Given the description of an element on the screen output the (x, y) to click on. 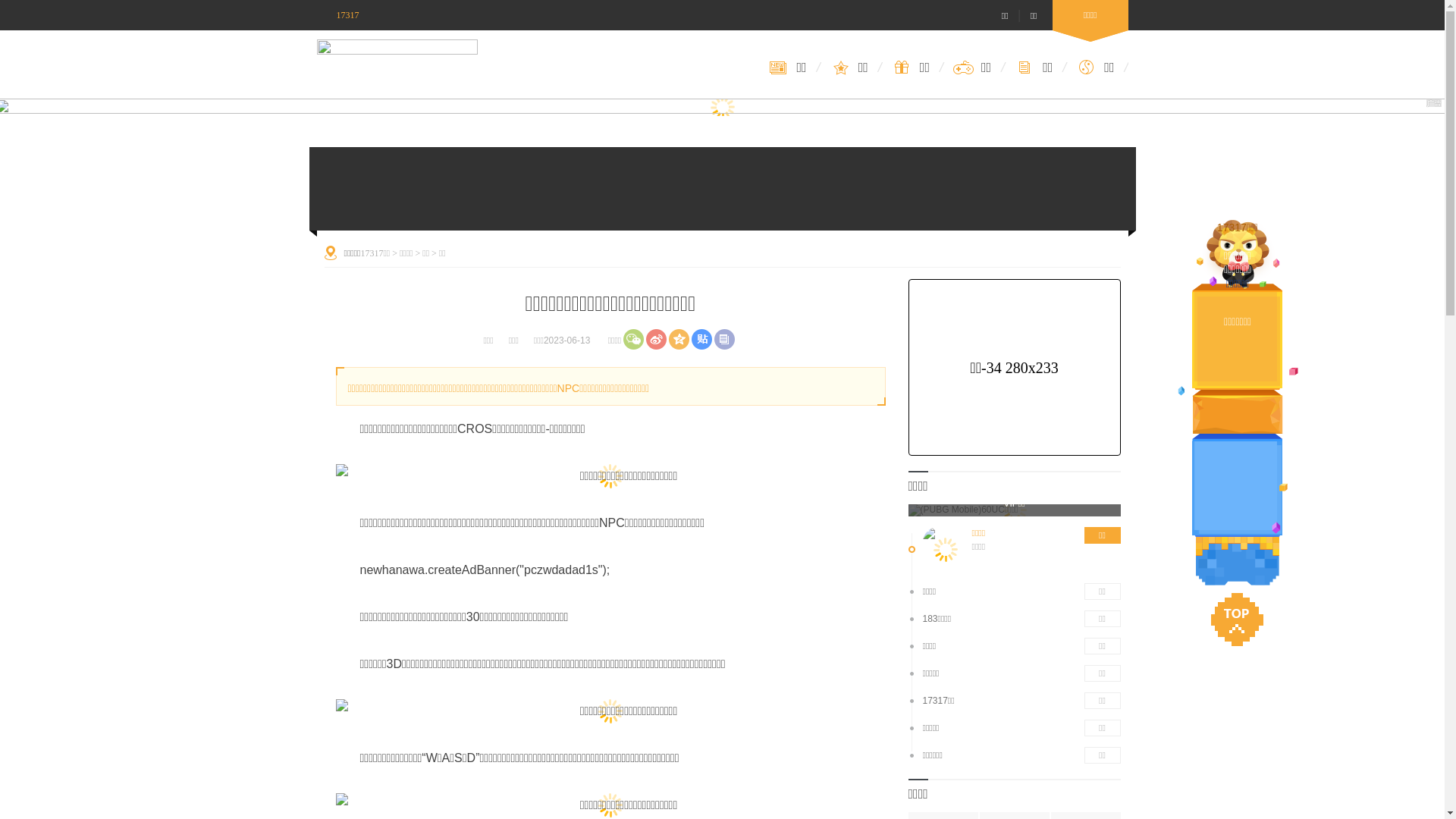
17317 Element type: text (337, 14)
